Given the description of an element on the screen output the (x, y) to click on. 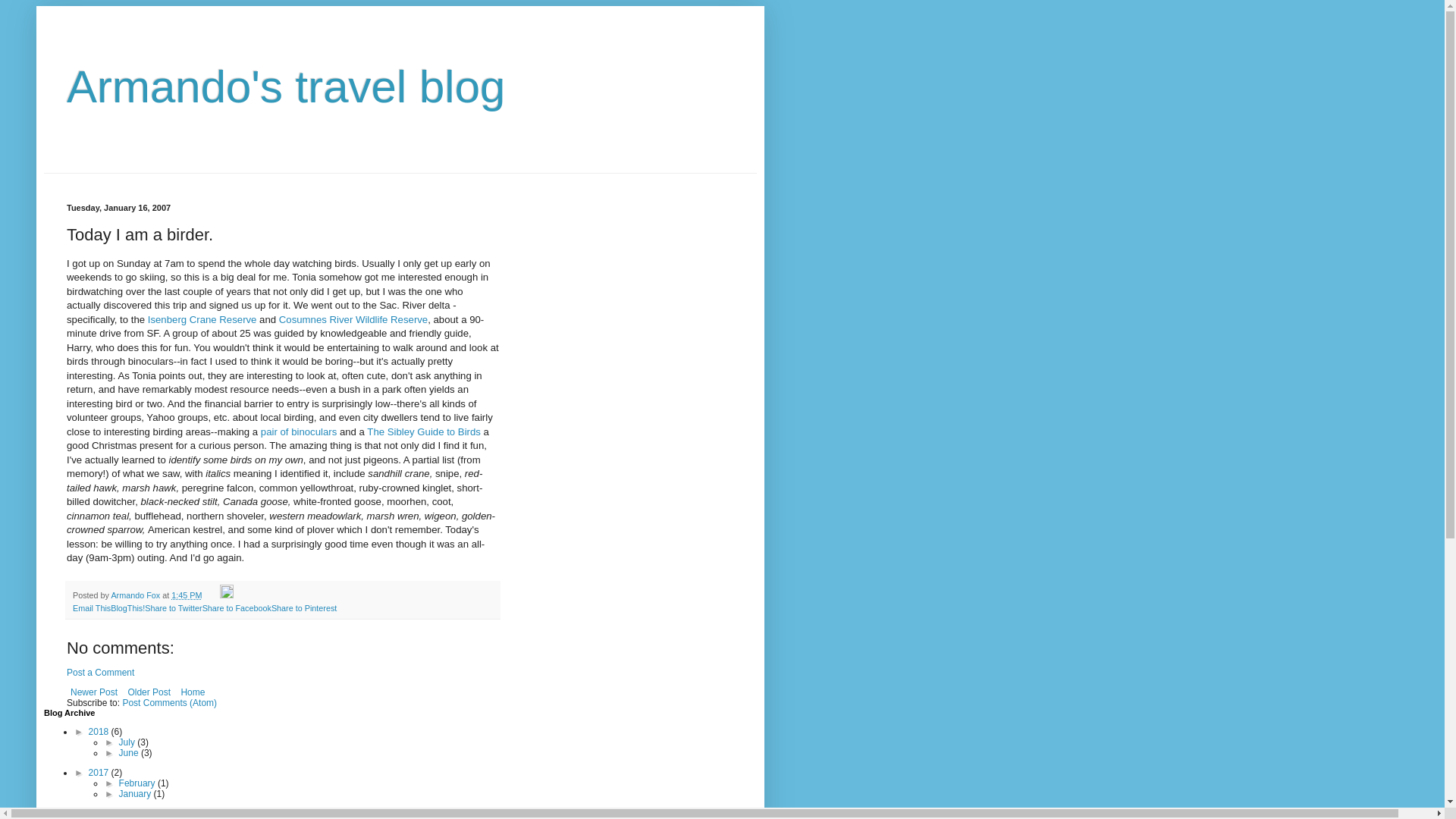
January (136, 793)
Email This (91, 607)
June (130, 752)
2017 (100, 772)
Share to Twitter (173, 607)
permanent link (186, 594)
Armando's travel blog (285, 86)
Home (192, 692)
July (128, 742)
Share to Facebook (236, 607)
Share to Pinterest (303, 607)
The Sibley Guide to Birds (423, 431)
BlogThis! (127, 607)
Post a Comment (99, 672)
Older Post (148, 692)
